Given the description of an element on the screen output the (x, y) to click on. 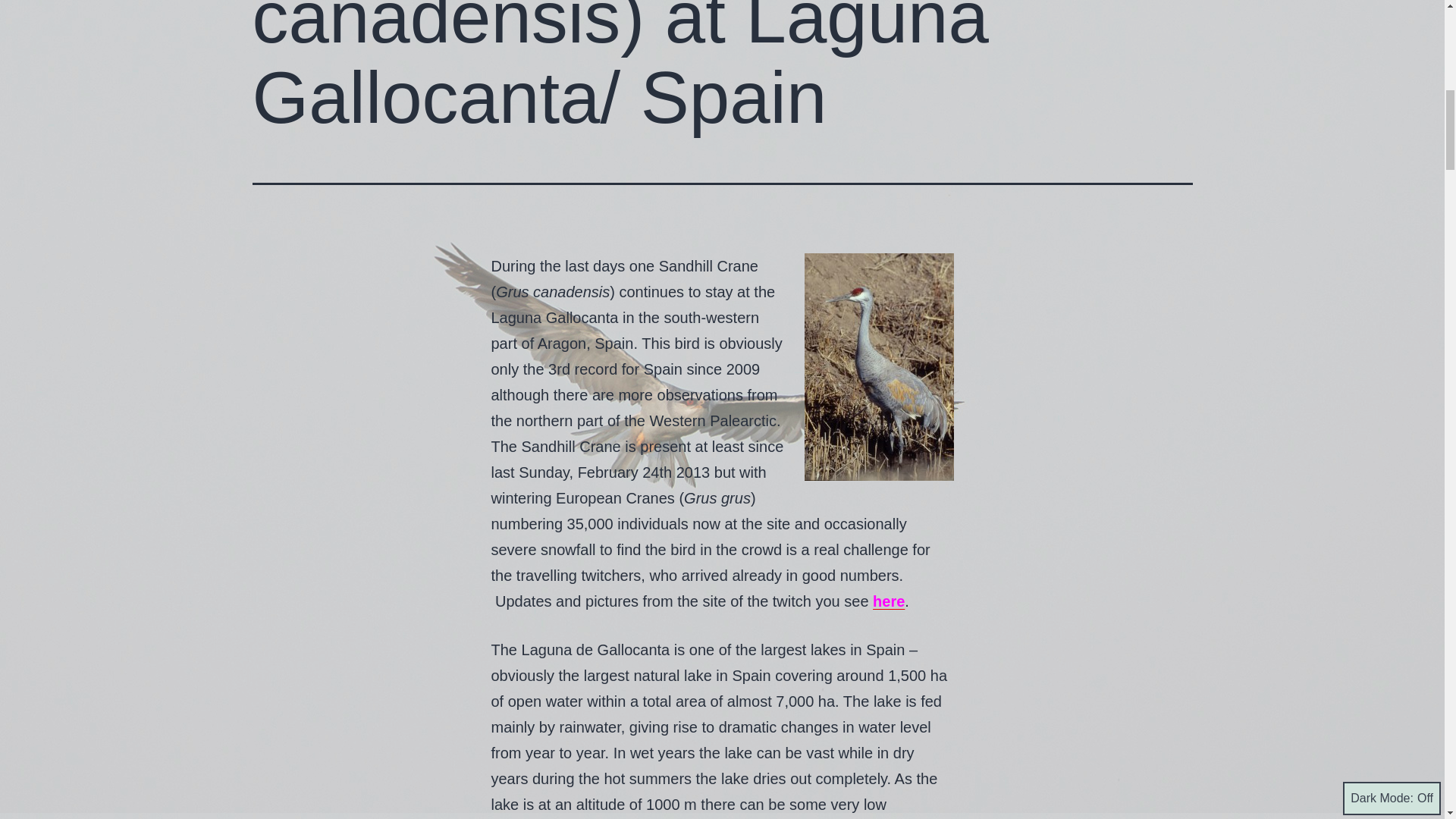
here (888, 600)
